Given the description of an element on the screen output the (x, y) to click on. 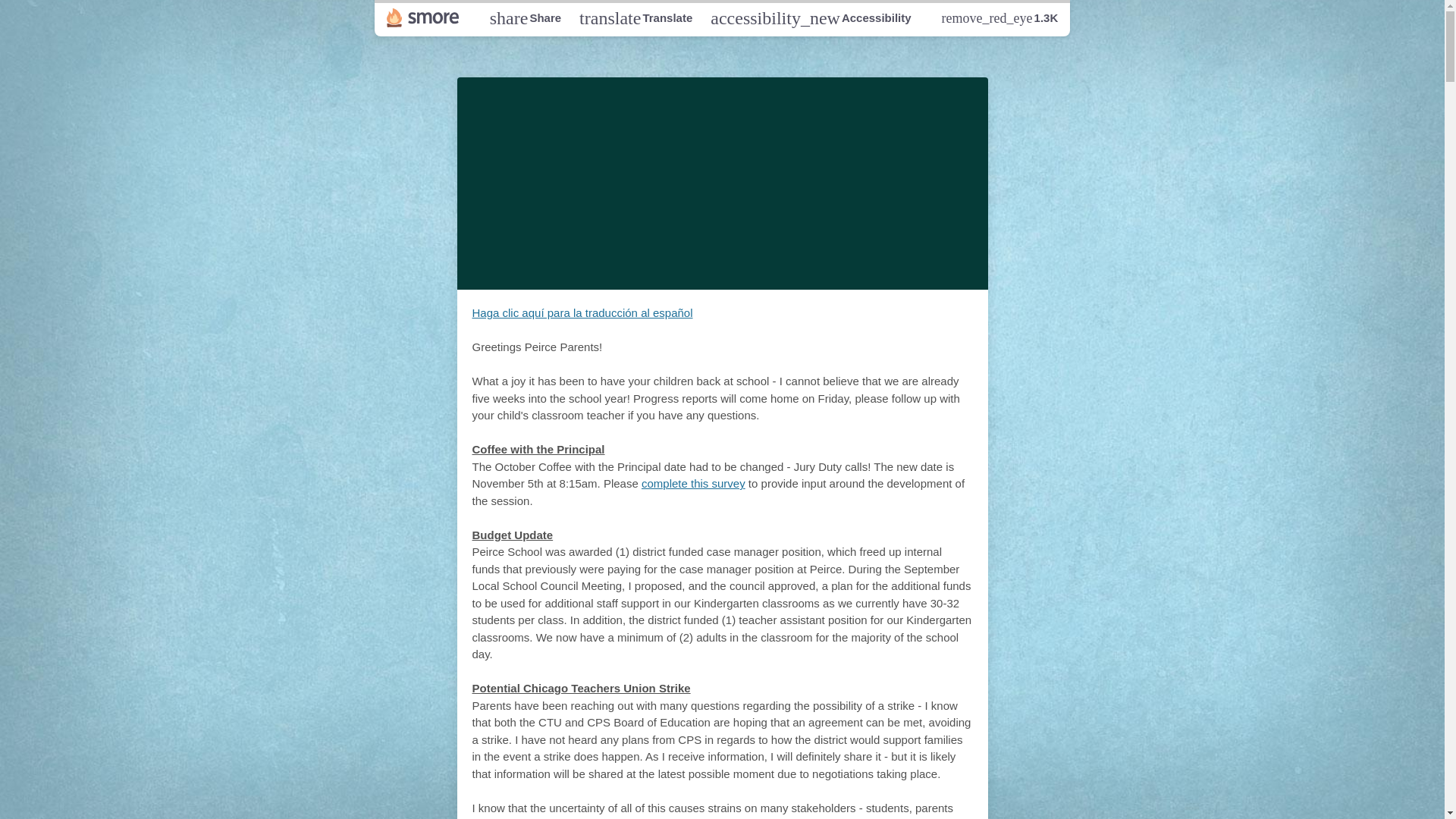
complete this survey (693, 482)
